Given the description of an element on the screen output the (x, y) to click on. 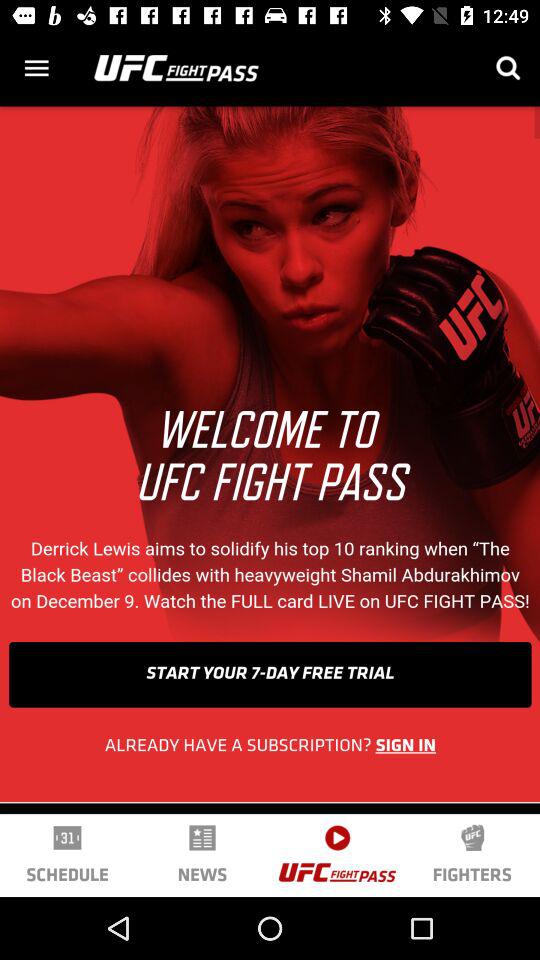
options (36, 68)
